Given the description of an element on the screen output the (x, y) to click on. 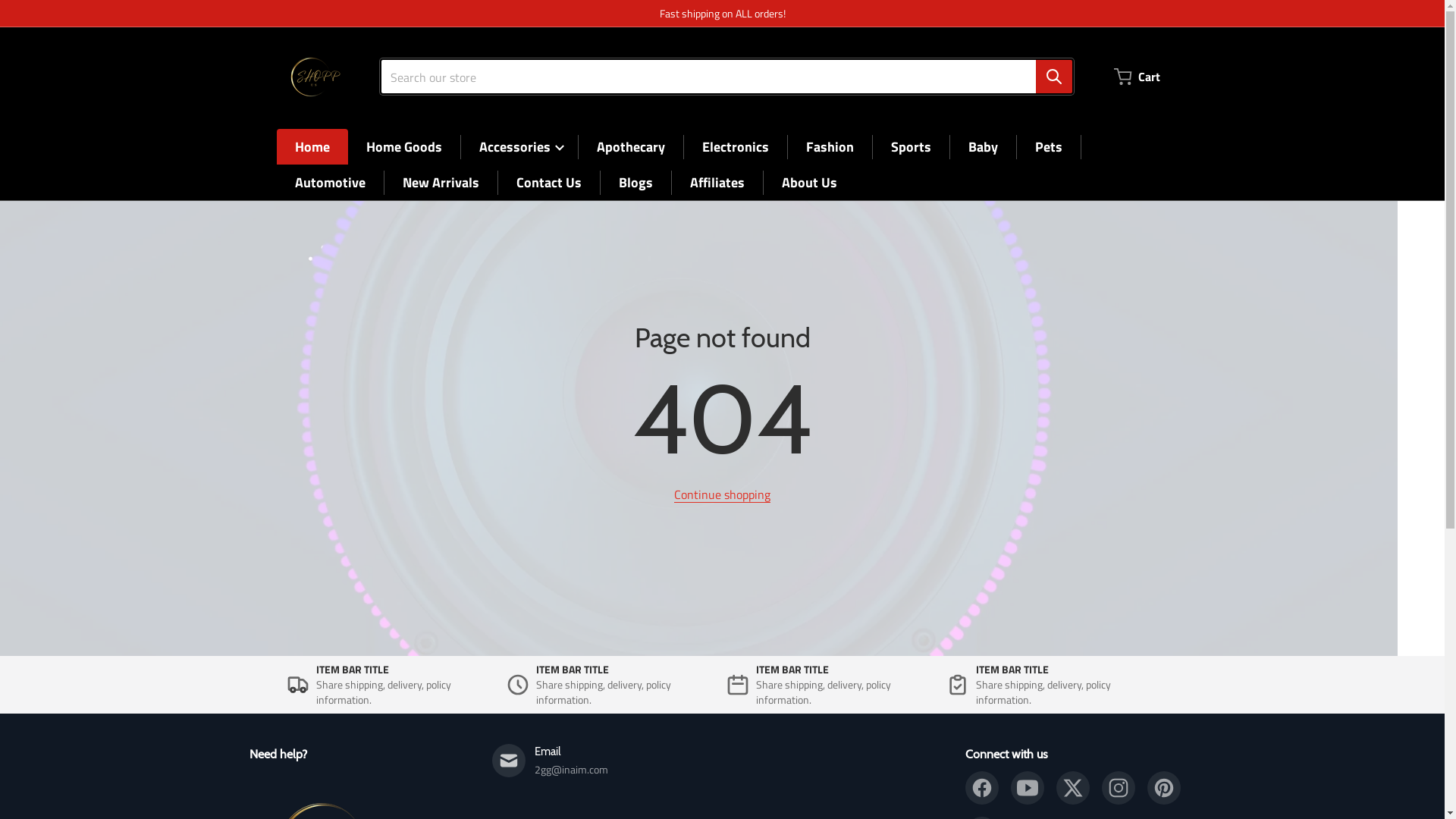
Home Goods Element type: text (403, 146)
Affiliates Element type: text (716, 182)
Continue shopping Element type: text (722, 494)
About Us Element type: text (808, 182)
Fashion Element type: text (829, 146)
Visit us on Facebook Element type: hover (980, 787)
Contact Us Element type: text (548, 182)
Cart Element type: text (1138, 76)
Check our Youtube channel Element type: hover (1026, 787)
2gg@inaim.com Element type: text (570, 769)
Home Element type: text (311, 146)
Baby Element type: text (982, 146)
New Arrivals Element type: text (439, 182)
Look what we tweet Element type: hover (1071, 787)
Apothecary Element type: text (629, 146)
Pets Element type: text (1047, 146)
Blogs Element type: text (635, 182)
Automotive Element type: text (329, 182)
We have Gram Element type: hover (1117, 787)
You can pin us Element type: hover (1162, 787)
Accessories Element type: text (519, 146)
Electronics Element type: text (735, 146)
Sports Element type: text (910, 146)
